Given the description of an element on the screen output the (x, y) to click on. 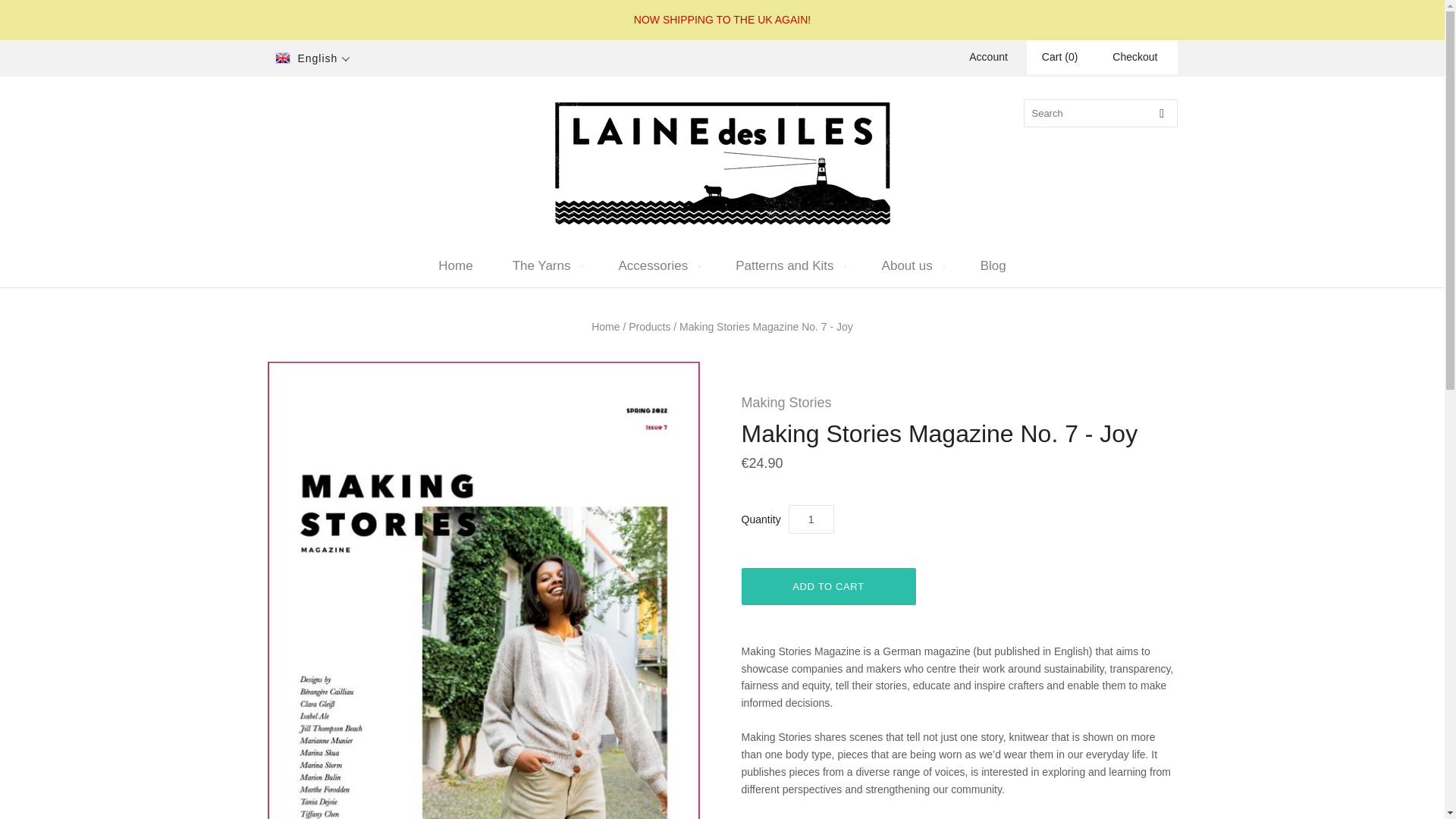
The Yarns (545, 265)
Patterns and Kits (788, 265)
Home (455, 265)
1 (811, 519)
Checkout (1134, 56)
Account (988, 56)
Add to cart (828, 586)
Accessories (657, 265)
